Given the description of an element on the screen output the (x, y) to click on. 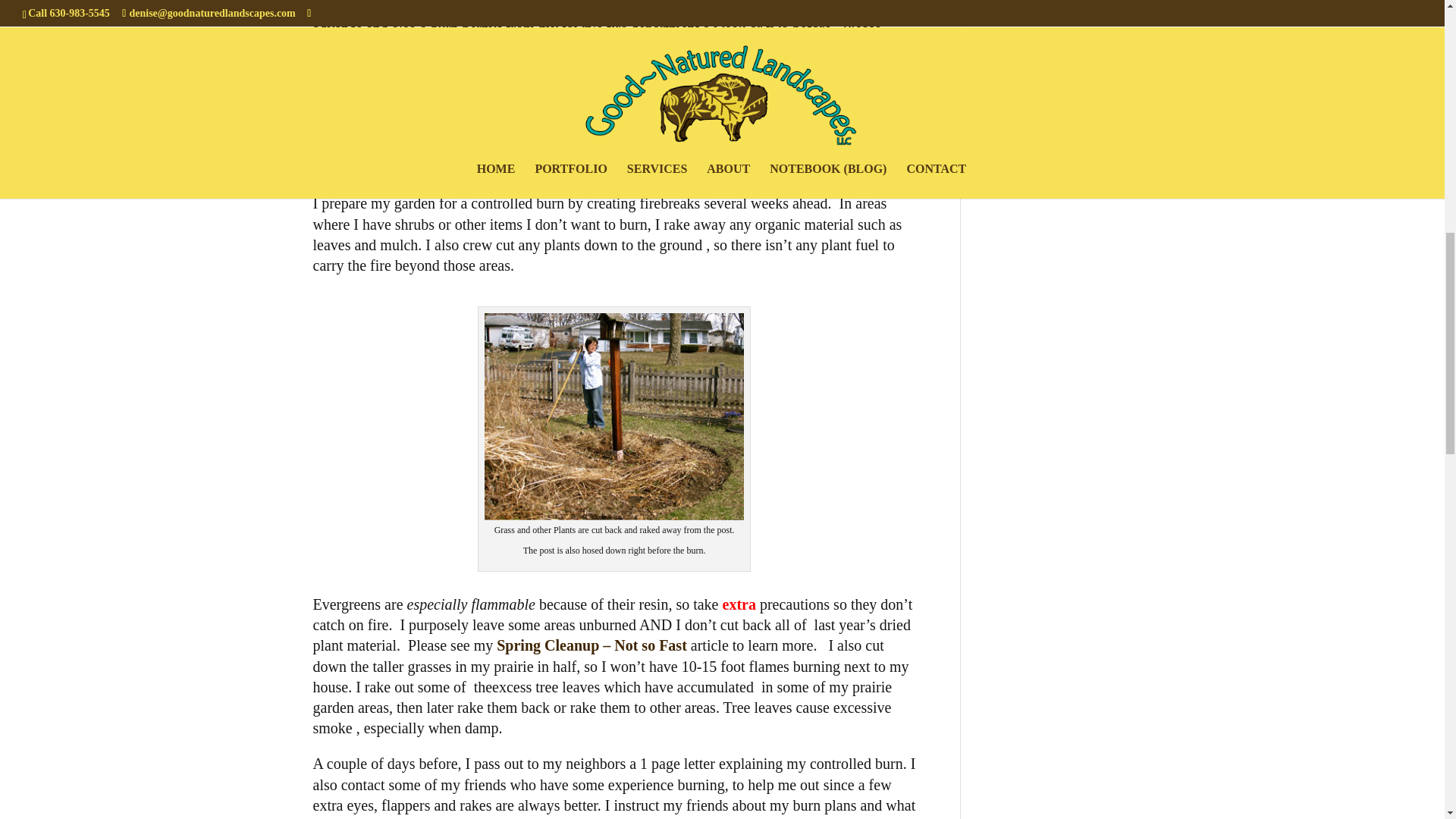
EPA burn permit  (715, 8)
EPA Open Burn Permit (715, 8)
